Given the description of an element on the screen output the (x, y) to click on. 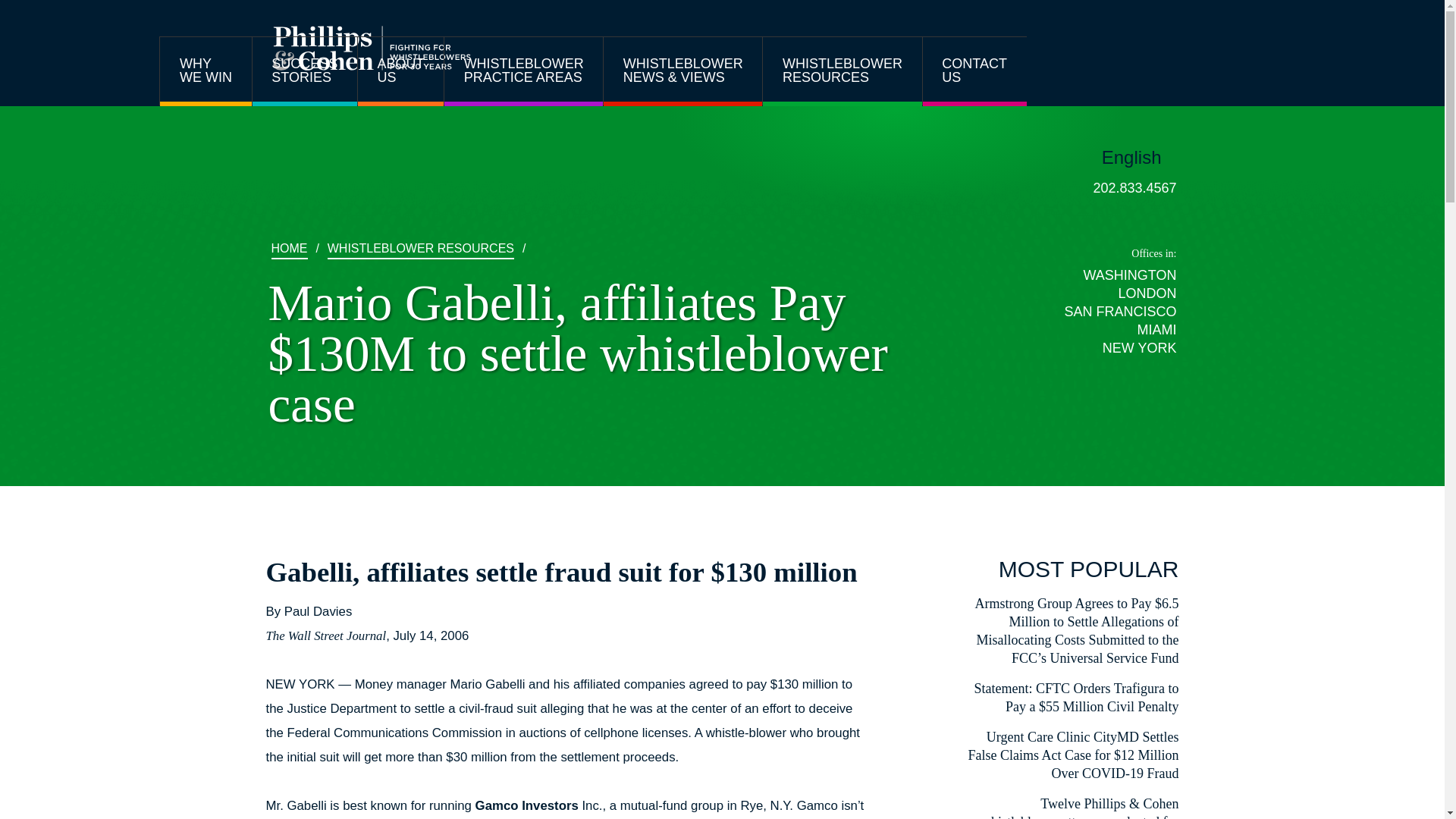
Go to phillipsandcohen.com. (288, 249)
Go to Whistleblower Resources. (420, 249)
